Given the description of an element on the screen output the (x, y) to click on. 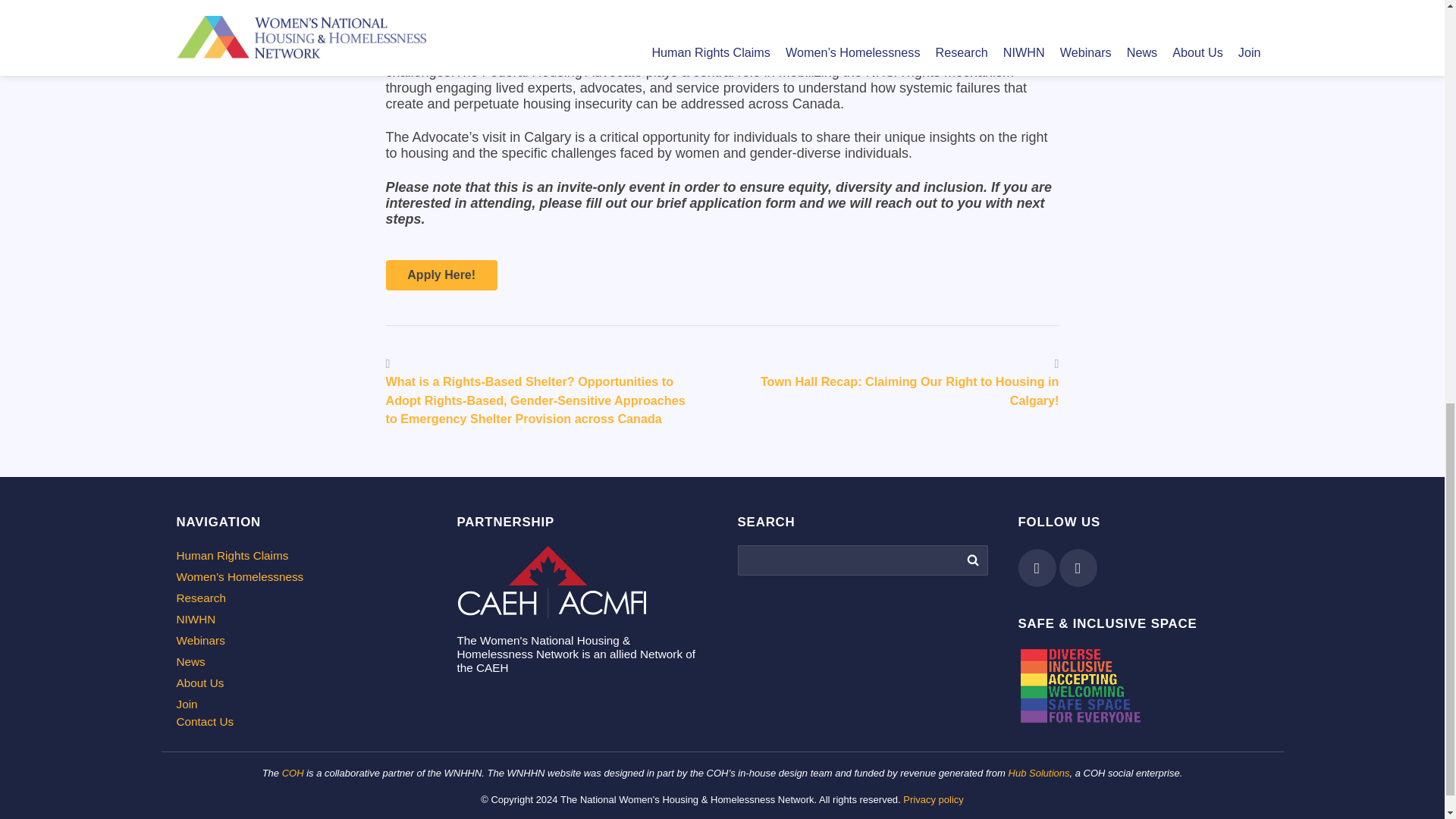
NIWHN (301, 619)
Town Hall Recap: Claiming Our Right to Housing in Calgary! (909, 390)
Search (971, 560)
Search (971, 560)
News (301, 662)
Hub Solutions (1039, 772)
Contact Us (301, 721)
Join (301, 704)
Human Rights Claims (301, 555)
COH (293, 772)
